Given the description of an element on the screen output the (x, y) to click on. 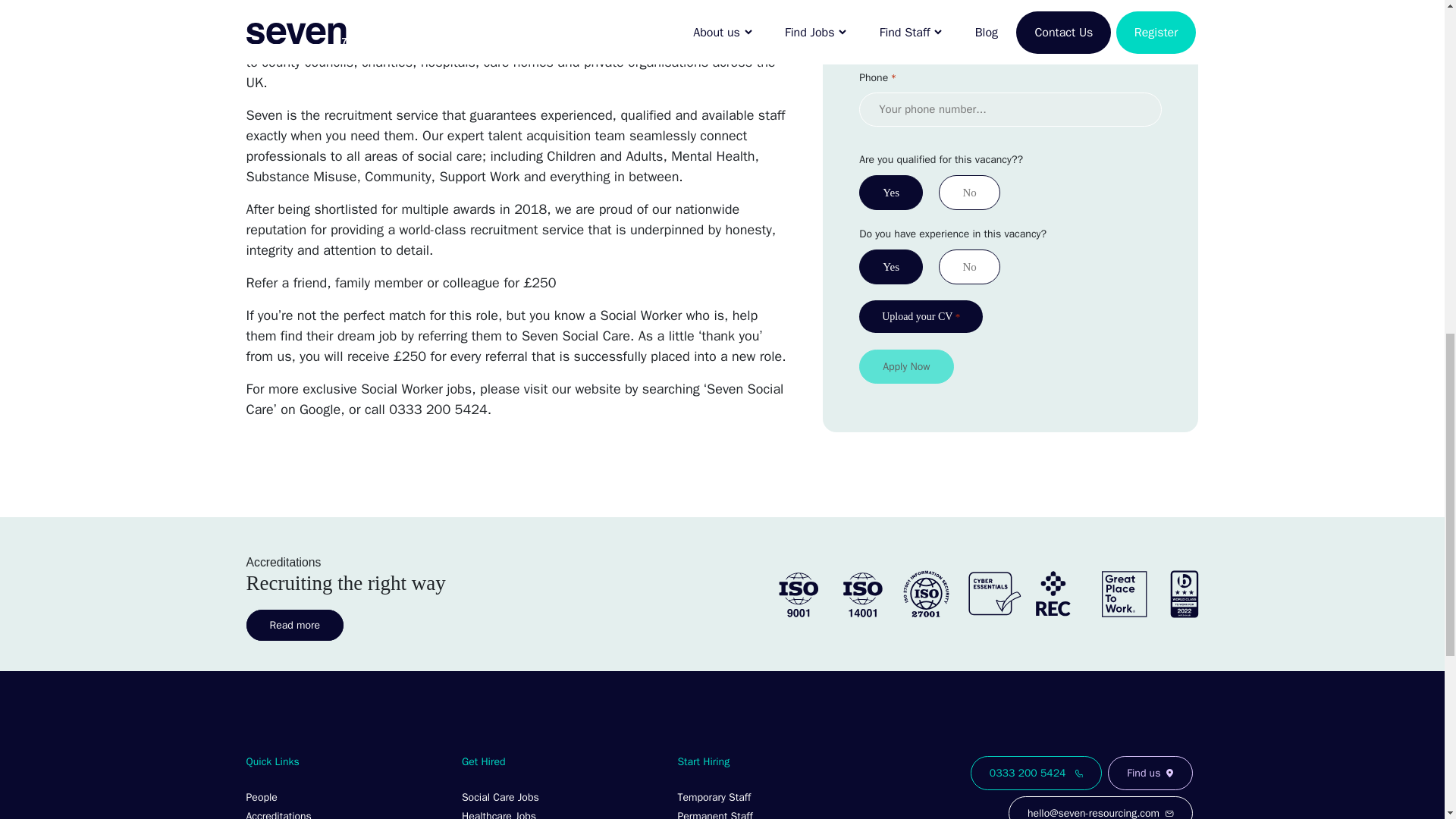
Find us (1150, 772)
0333 200 5424 (1036, 772)
Social Care Jobs (560, 795)
Read more (294, 624)
People (344, 795)
Accreditations (344, 812)
Permanent Staff (776, 812)
Healthcare Jobs (560, 812)
Temporary Staff (776, 795)
